Given the description of an element on the screen output the (x, y) to click on. 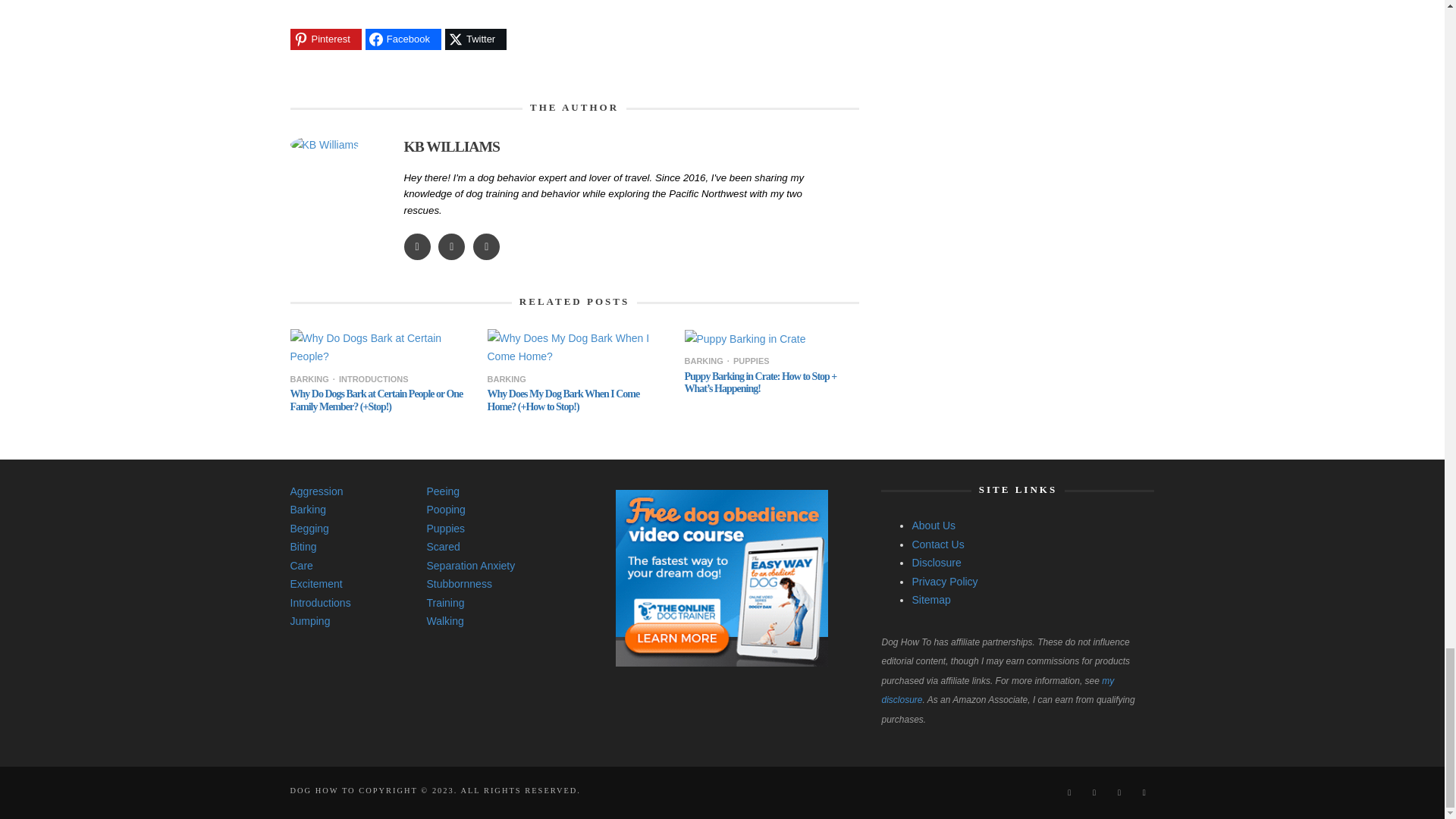
Pinterest (1093, 792)
Share on Facebook (403, 38)
Share on Twitter (475, 38)
Share on Pinterest (325, 38)
Tumblr (1118, 792)
Instagram (1068, 792)
